Given the description of an element on the screen output the (x, y) to click on. 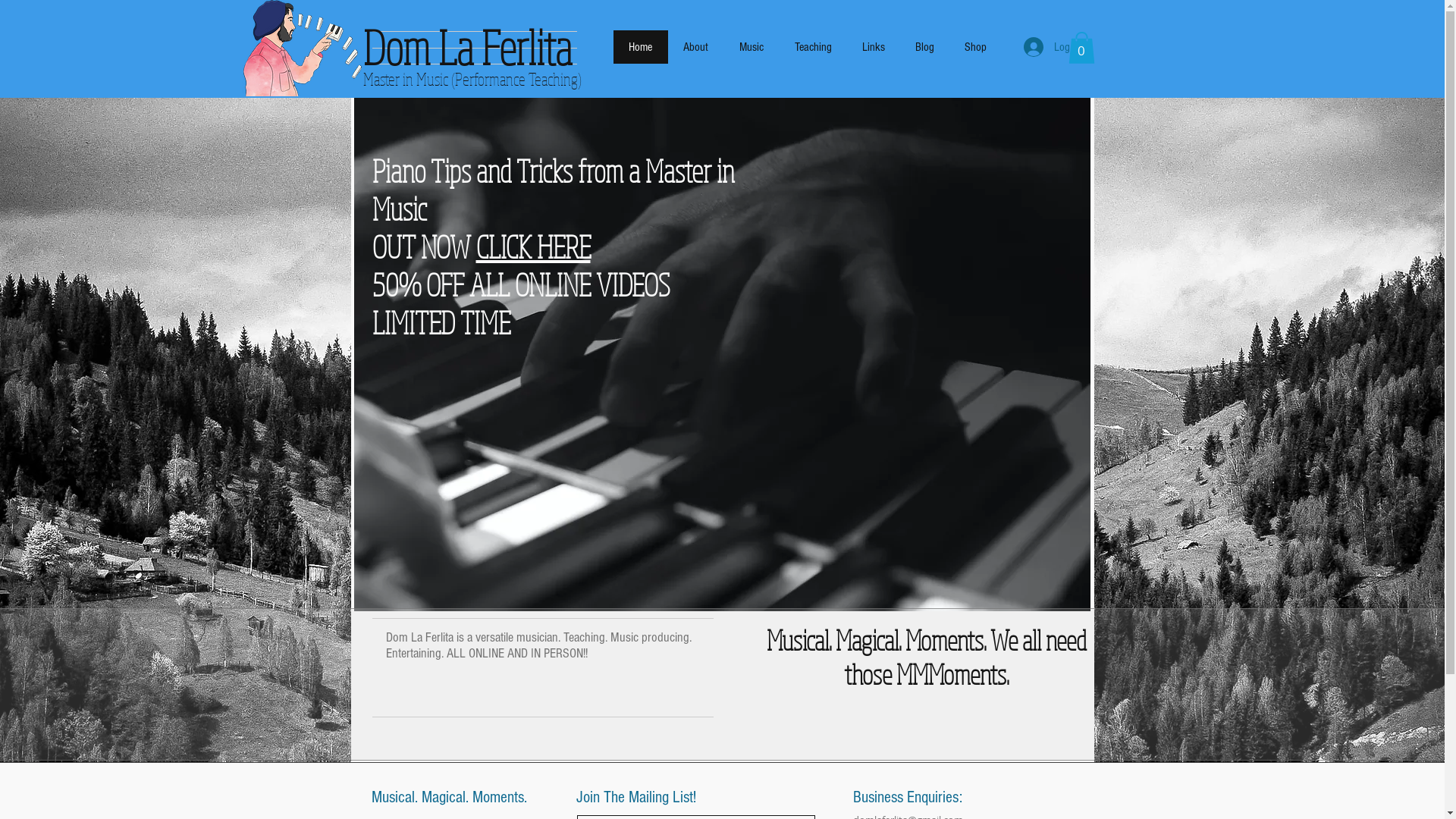
Dom La Ferlita Element type: text (466, 46)
Blog Element type: text (923, 46)
Shop Element type: text (975, 46)
About Element type: text (695, 46)
0 Element type: text (1080, 47)
CLICK HERE Element type: text (533, 246)
Log In Element type: text (1052, 46)
Links Element type: text (872, 46)
Home Element type: text (639, 46)
Music Element type: text (750, 46)
Teaching Element type: text (813, 46)
